Given the description of an element on the screen output the (x, y) to click on. 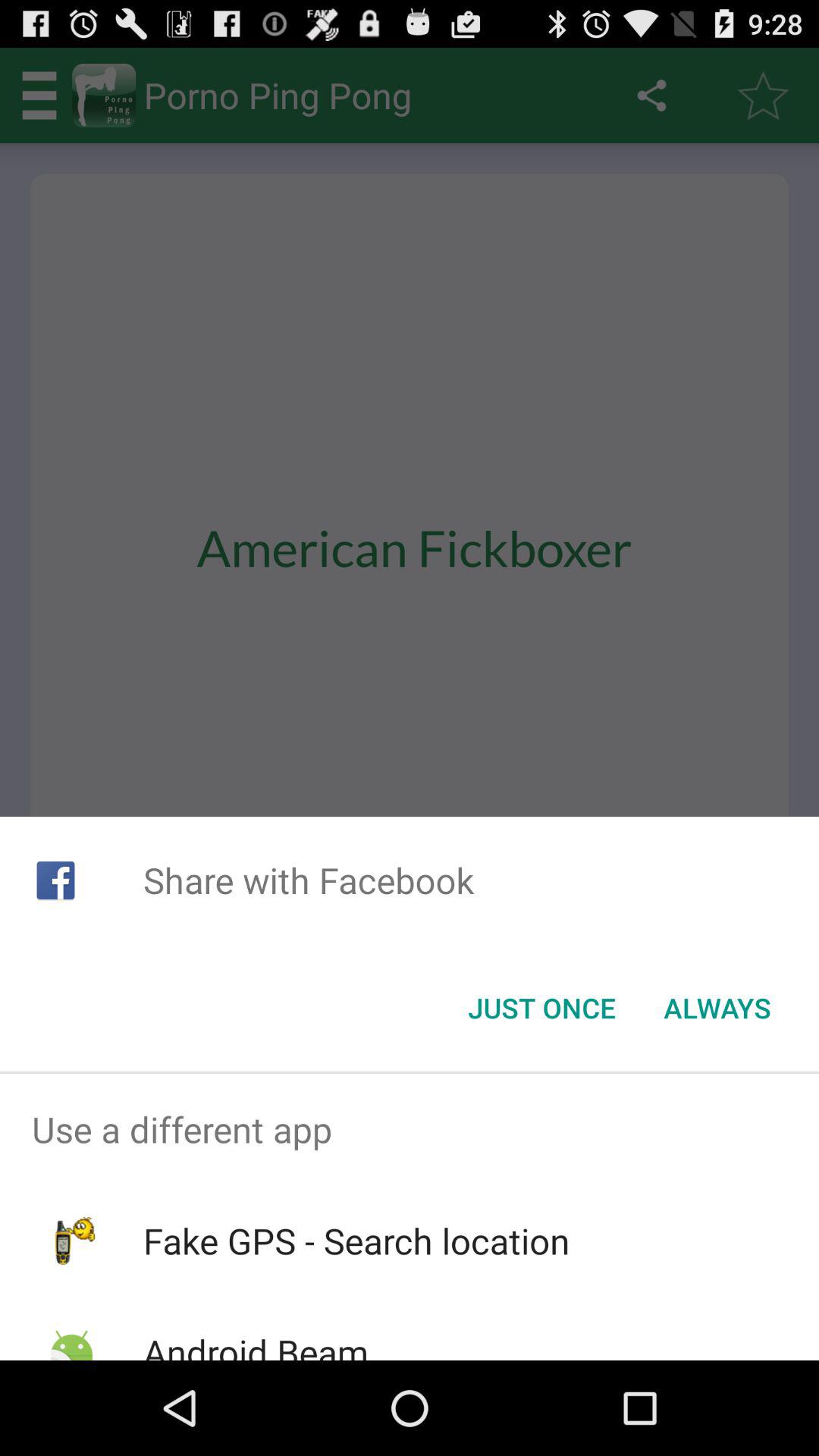
scroll until use a different (409, 1129)
